Given the description of an element on the screen output the (x, y) to click on. 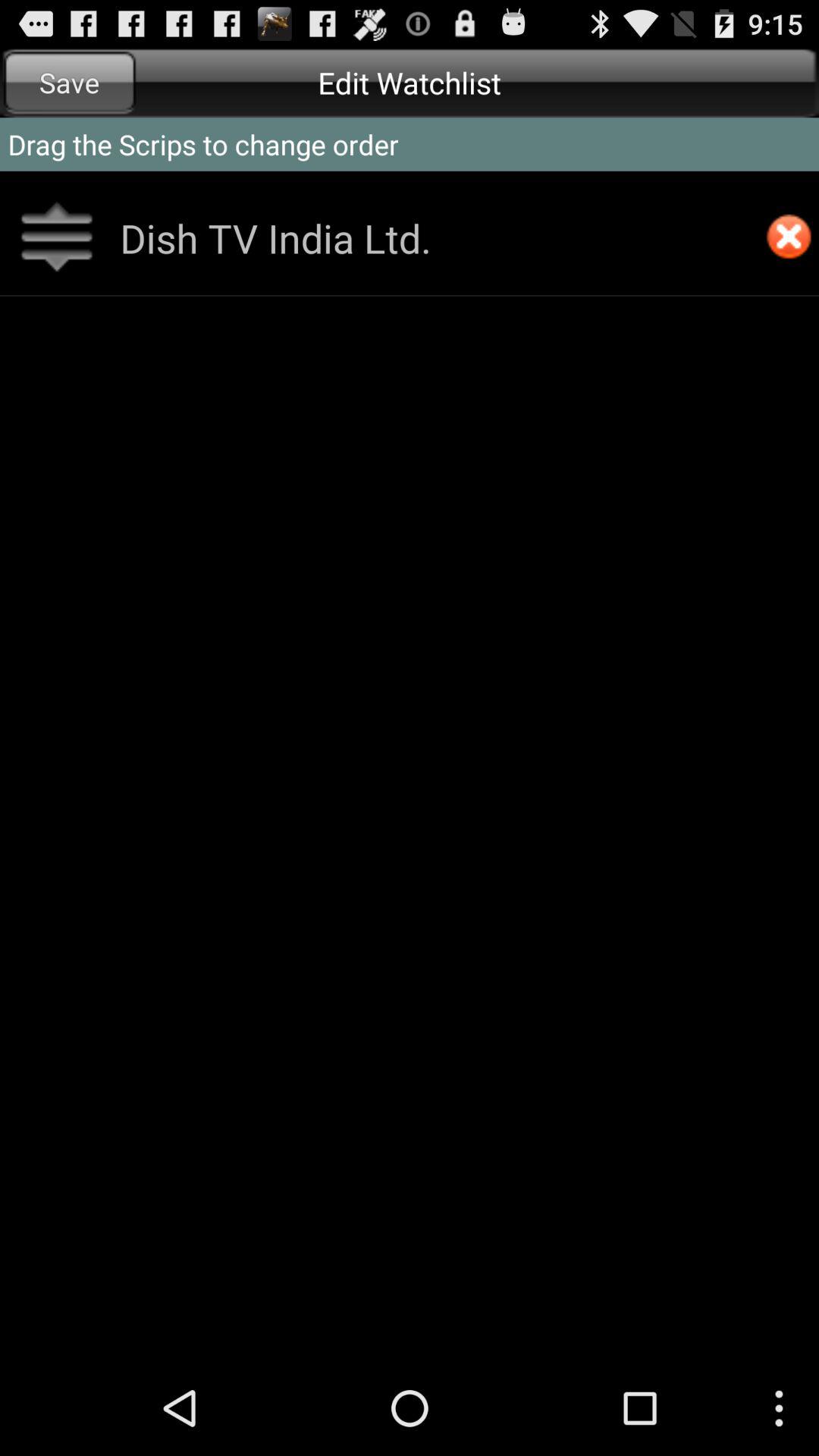
press icon to the right of dish tv india icon (788, 238)
